Given the description of an element on the screen output the (x, y) to click on. 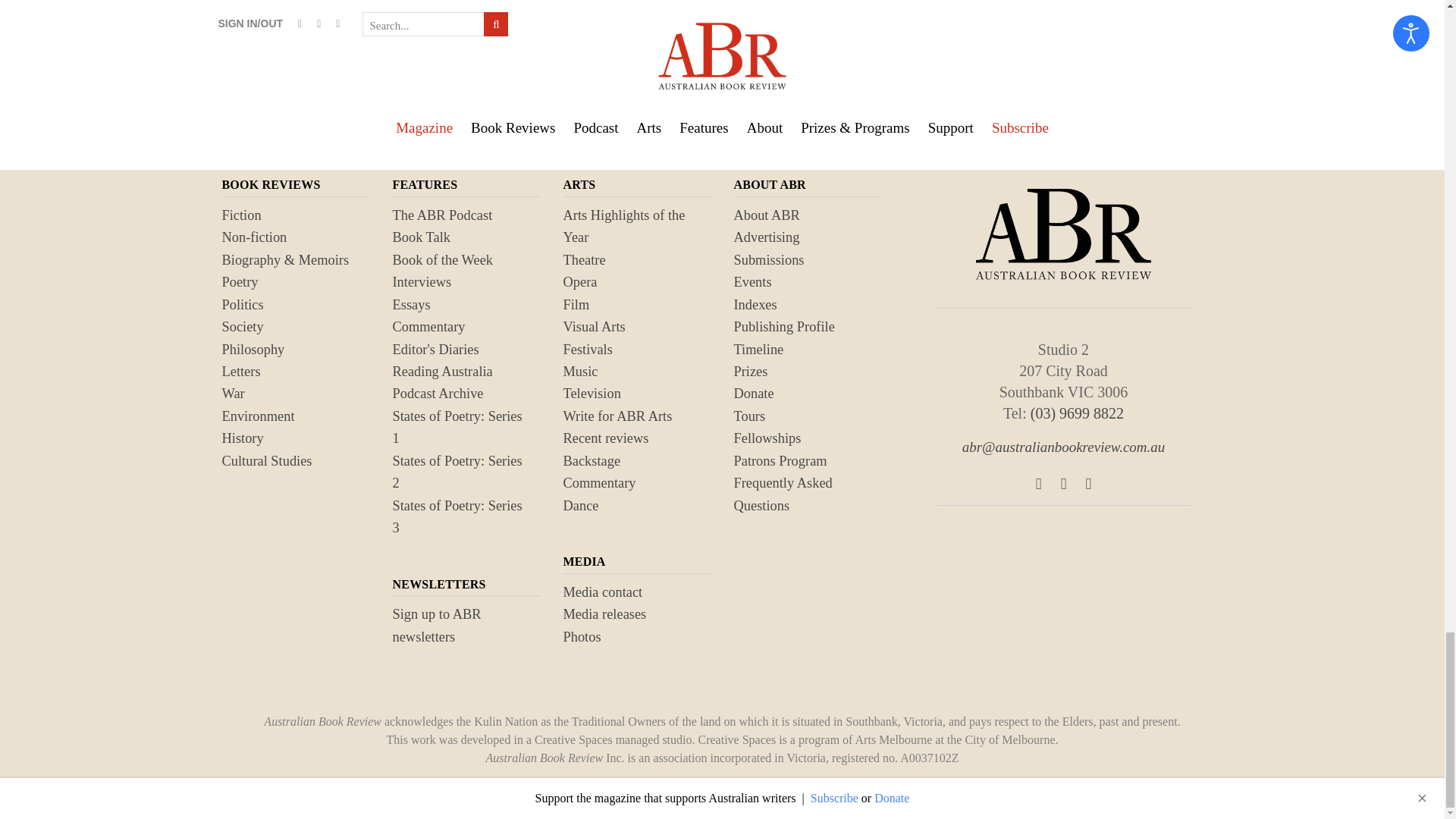
Submit comment (300, 15)
